Given the description of an element on the screen output the (x, y) to click on. 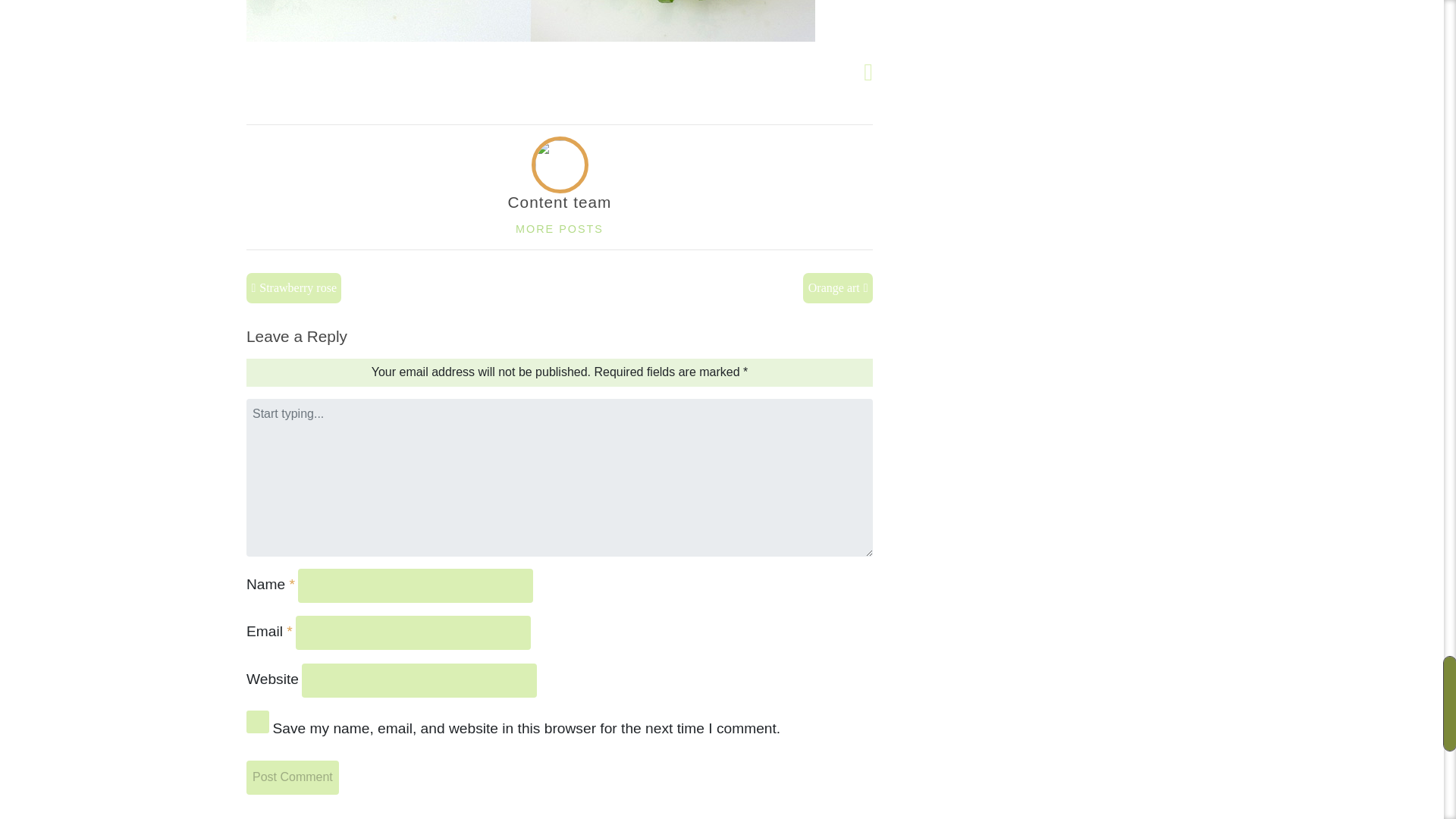
Strawberry rose (293, 287)
yes (257, 721)
Post Comment (292, 777)
MORE POSTS (559, 228)
Post Comment (292, 777)
Orange art (837, 287)
